Given the description of an element on the screen output the (x, y) to click on. 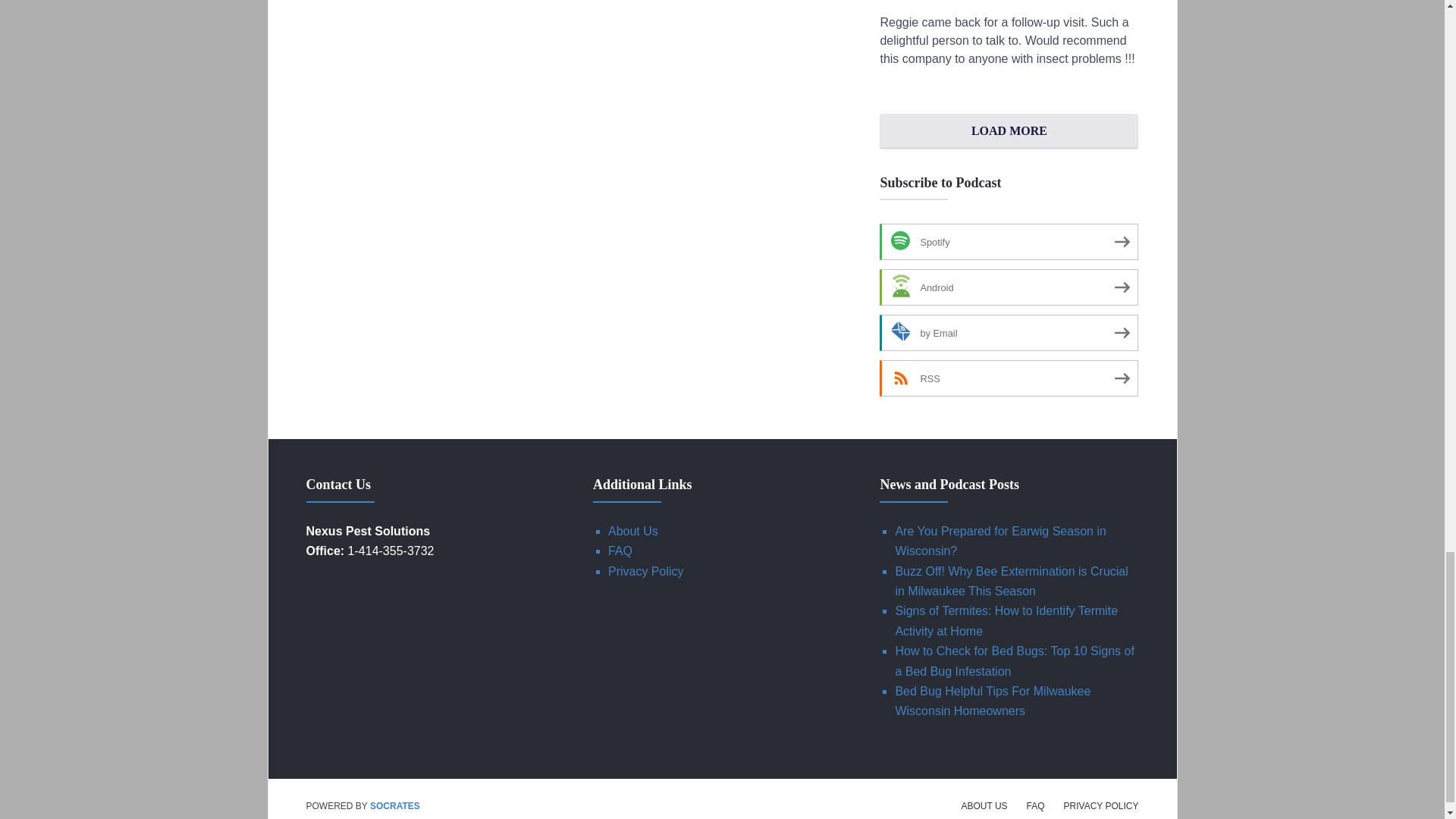
Subscribe via RSS (1008, 378)
by Email (1008, 332)
Android (1008, 287)
Subscribe on Android (1008, 287)
LOAD MORE (1008, 130)
Subscribe by Email (1008, 332)
Subscribe on Spotify (1008, 241)
Spotify (1008, 241)
